Given the description of an element on the screen output the (x, y) to click on. 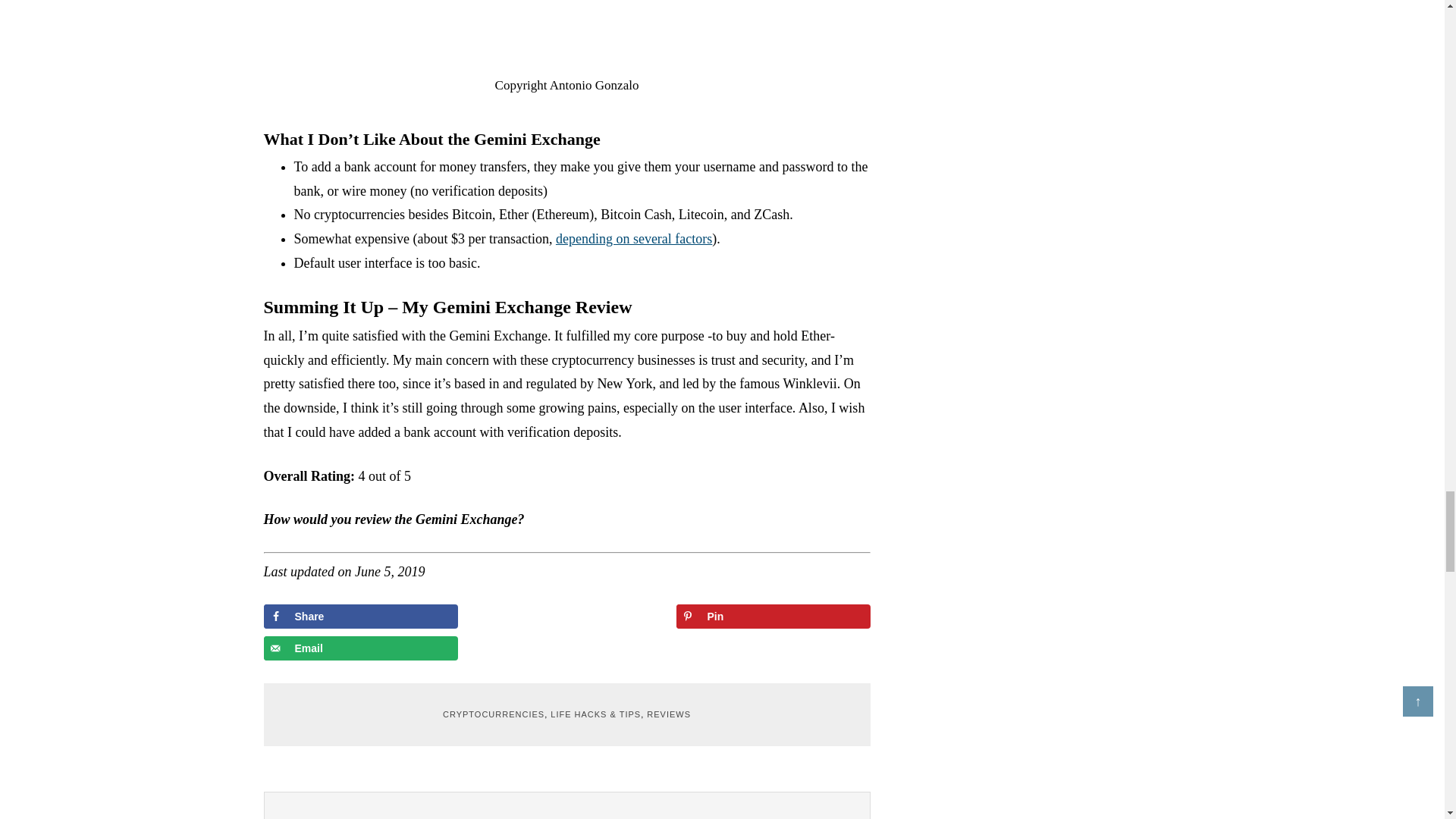
Pin (773, 616)
CRYPTOCURRENCIES (493, 714)
Share on Facebook (360, 616)
depending on several factors (633, 238)
Save to Pinterest (773, 616)
Share on X (566, 616)
Tweet (566, 616)
Email (360, 648)
Send over email (360, 648)
Share (360, 616)
REVIEWS (668, 714)
